Given the description of an element on the screen output the (x, y) to click on. 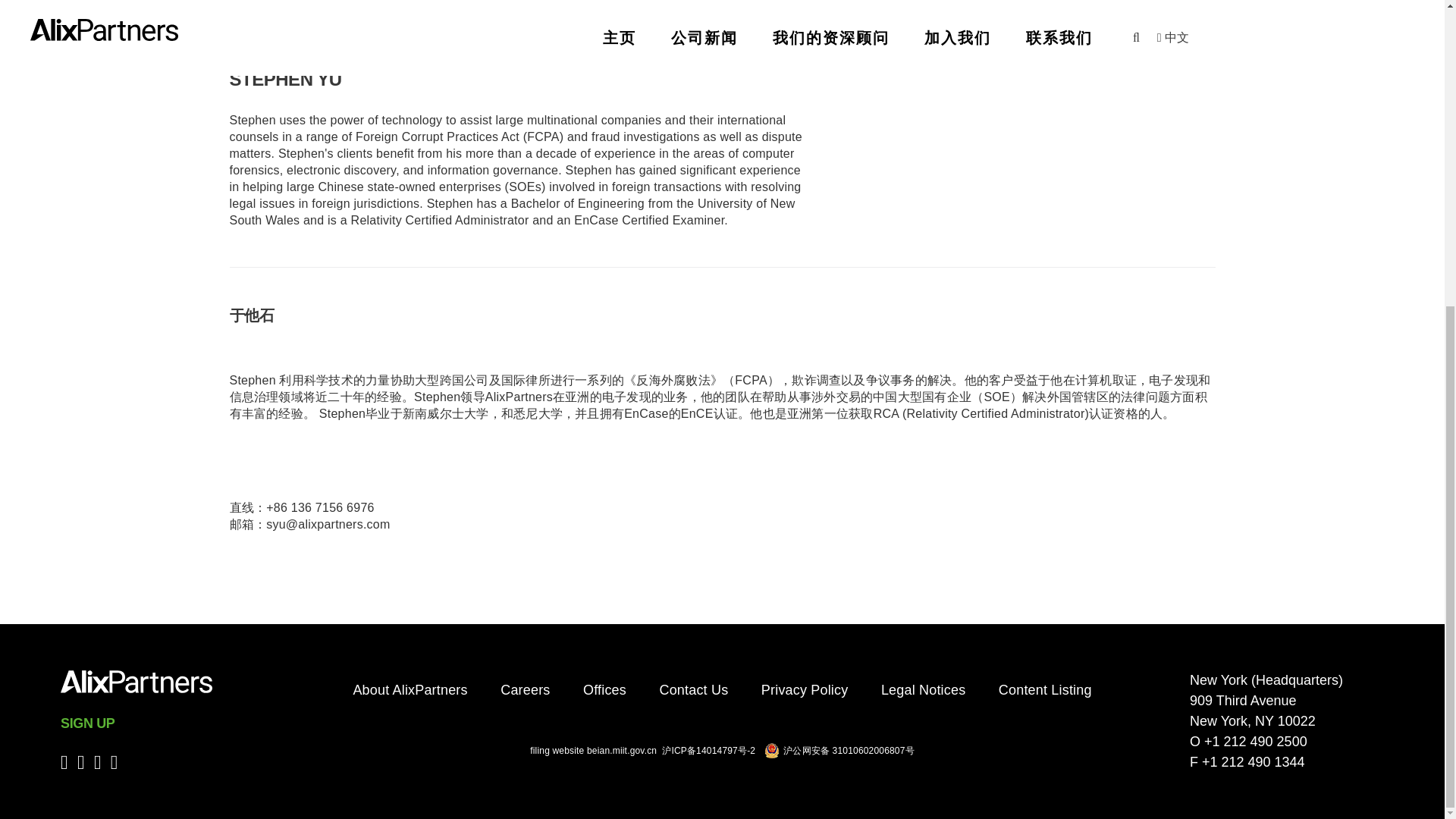
Careers (525, 689)
Legal Notices (922, 689)
Visit us on LinkedIn! (80, 762)
Offices (604, 689)
About AlixPartners (409, 689)
Join Our Mailing List (88, 723)
Careers (525, 689)
Contact Us (694, 689)
SIGN UP (88, 723)
Offices (604, 689)
Visit us on Twitter! (97, 762)
Visit us on Facebook! (113, 762)
Content Listing (1045, 689)
Contact Us (694, 689)
Privacy Policy (804, 689)
